Given the description of an element on the screen output the (x, y) to click on. 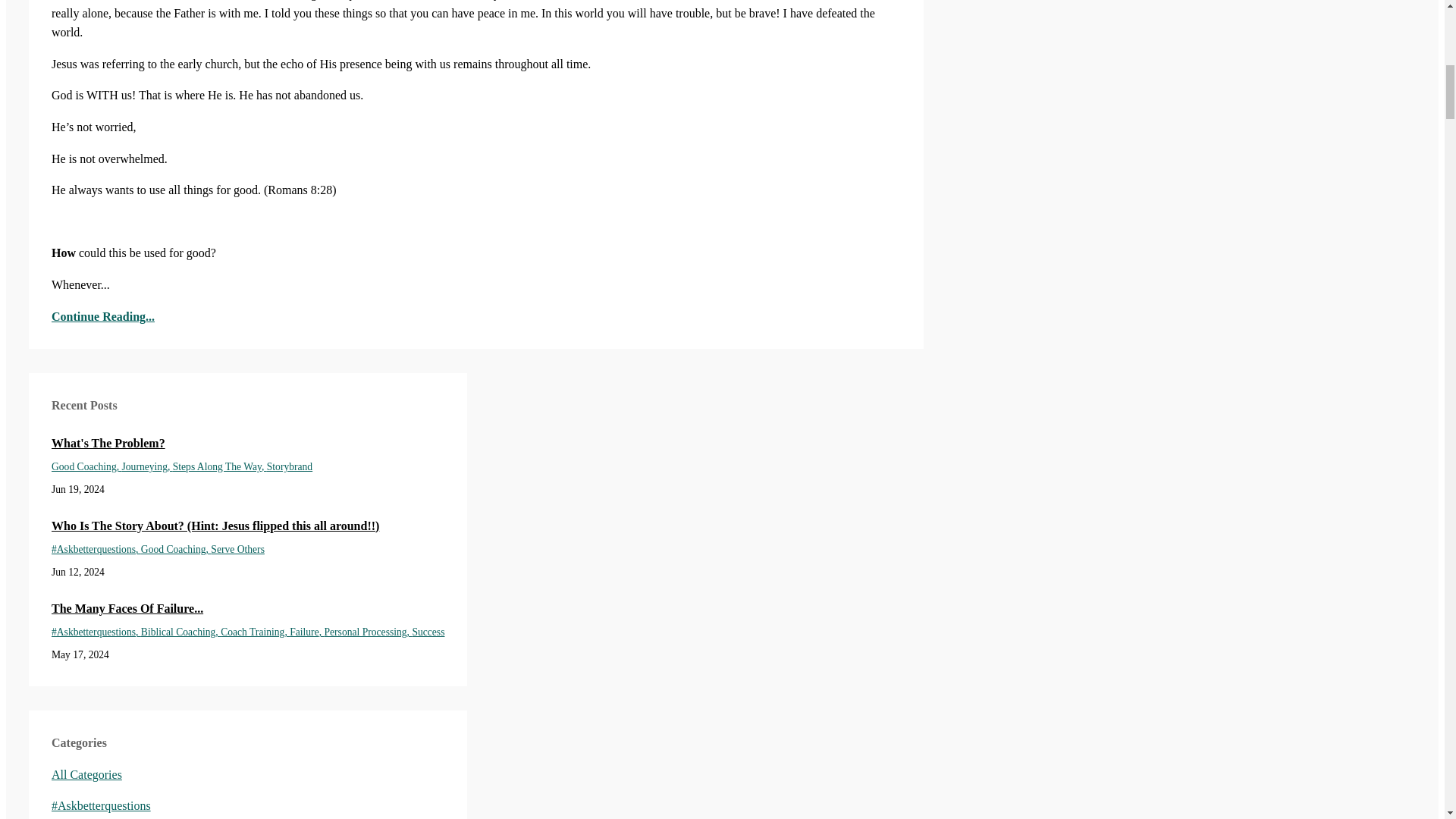
What's The Problem? (247, 443)
The Many Faces Of Failure... (247, 608)
Good Coaching (176, 549)
Continue Reading... (475, 315)
Coach Training (255, 632)
Personal Processing (367, 632)
Journeying (147, 466)
Failure (306, 632)
Biblical Coaching (181, 632)
Good Coaching (86, 466)
Serve Others (237, 549)
Storybrand (289, 466)
Steps Along The Way (219, 466)
Success (428, 632)
All Categories (86, 774)
